Given the description of an element on the screen output the (x, y) to click on. 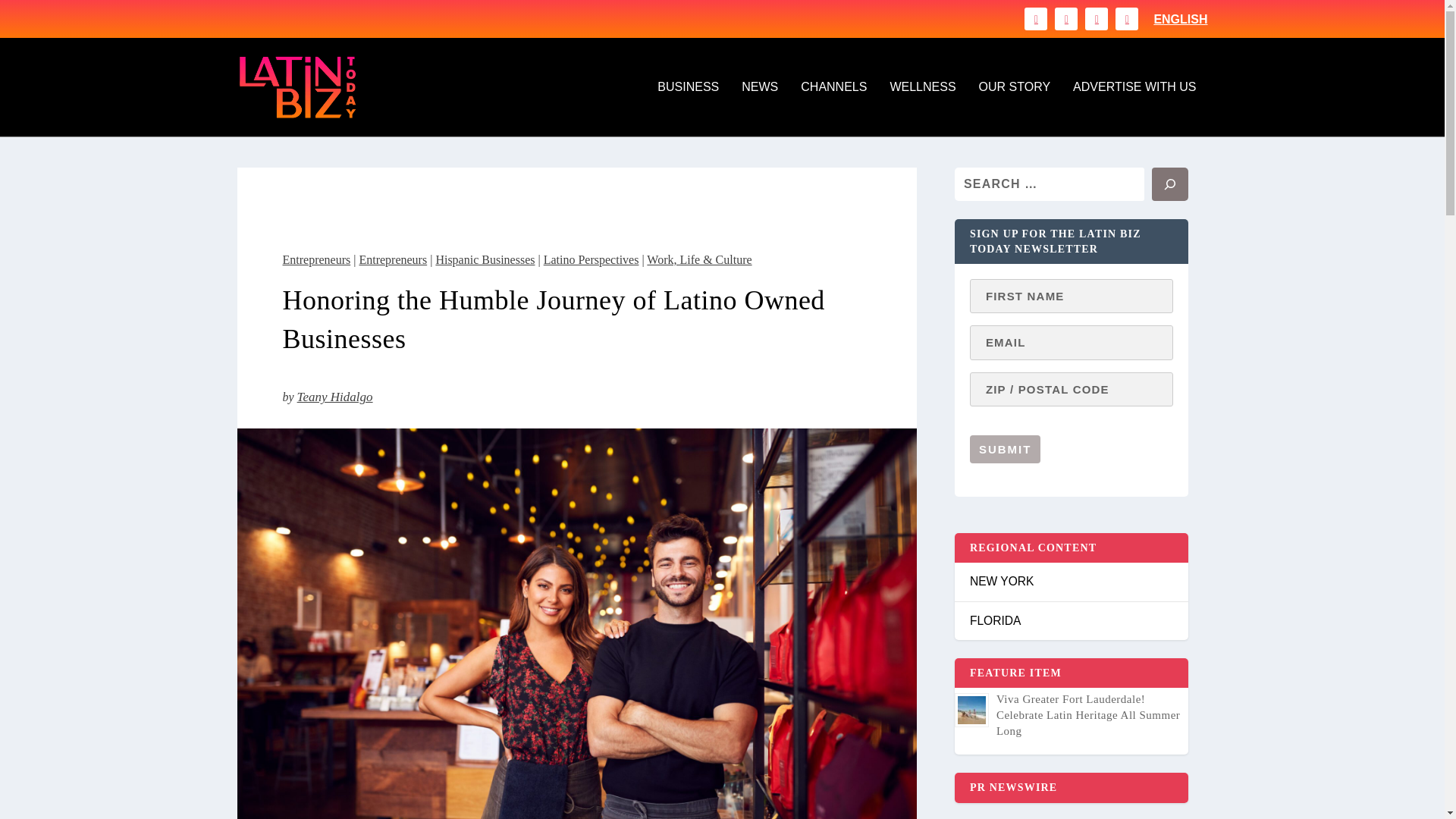
Submit (1005, 448)
English (1180, 19)
